Given the description of an element on the screen output the (x, y) to click on. 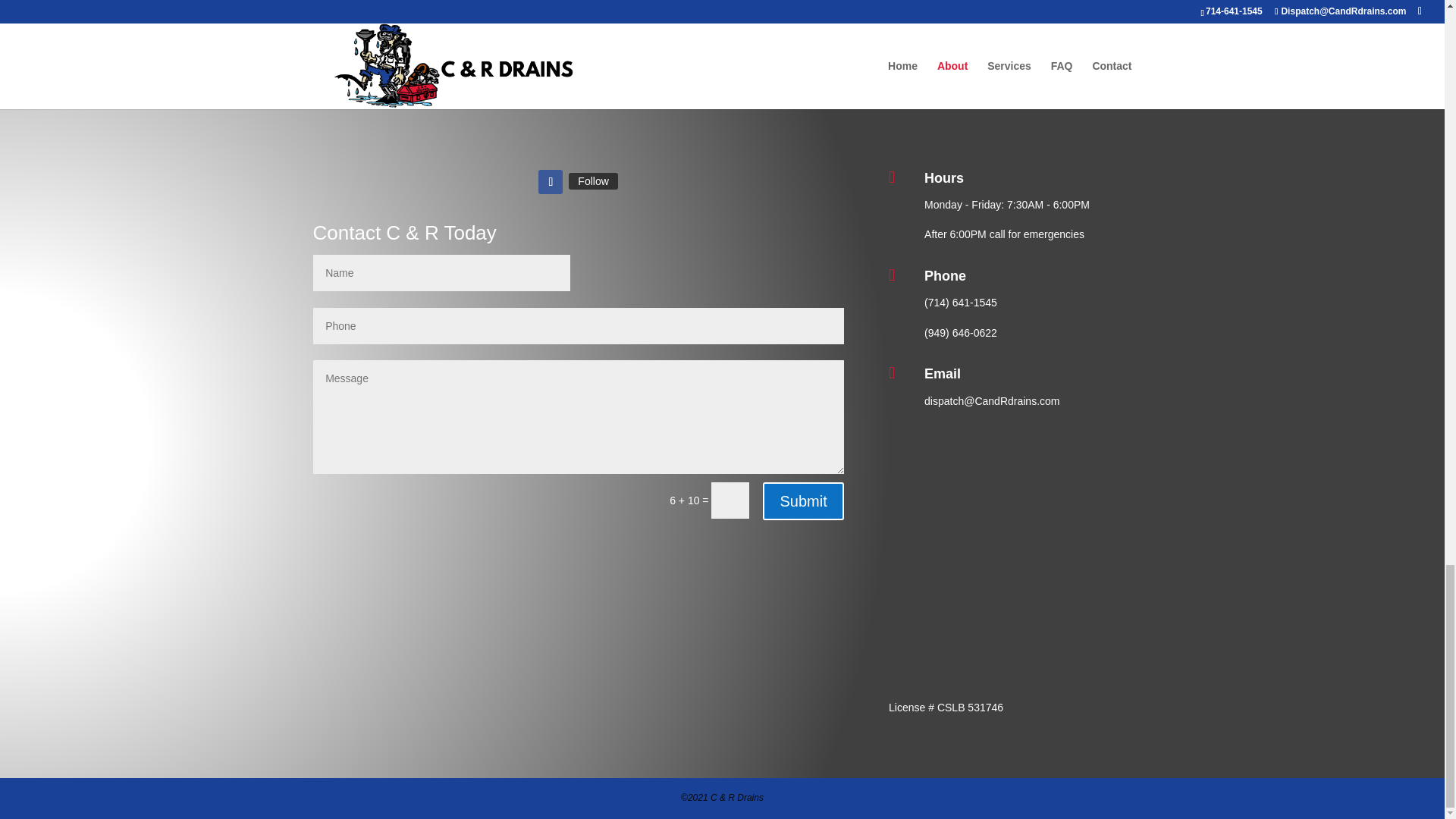
Follow on Facebook (550, 181)
Facebook (593, 180)
Follow (593, 180)
Submit (802, 501)
Only numbers allowed. (578, 325)
